Given the description of an element on the screen output the (x, y) to click on. 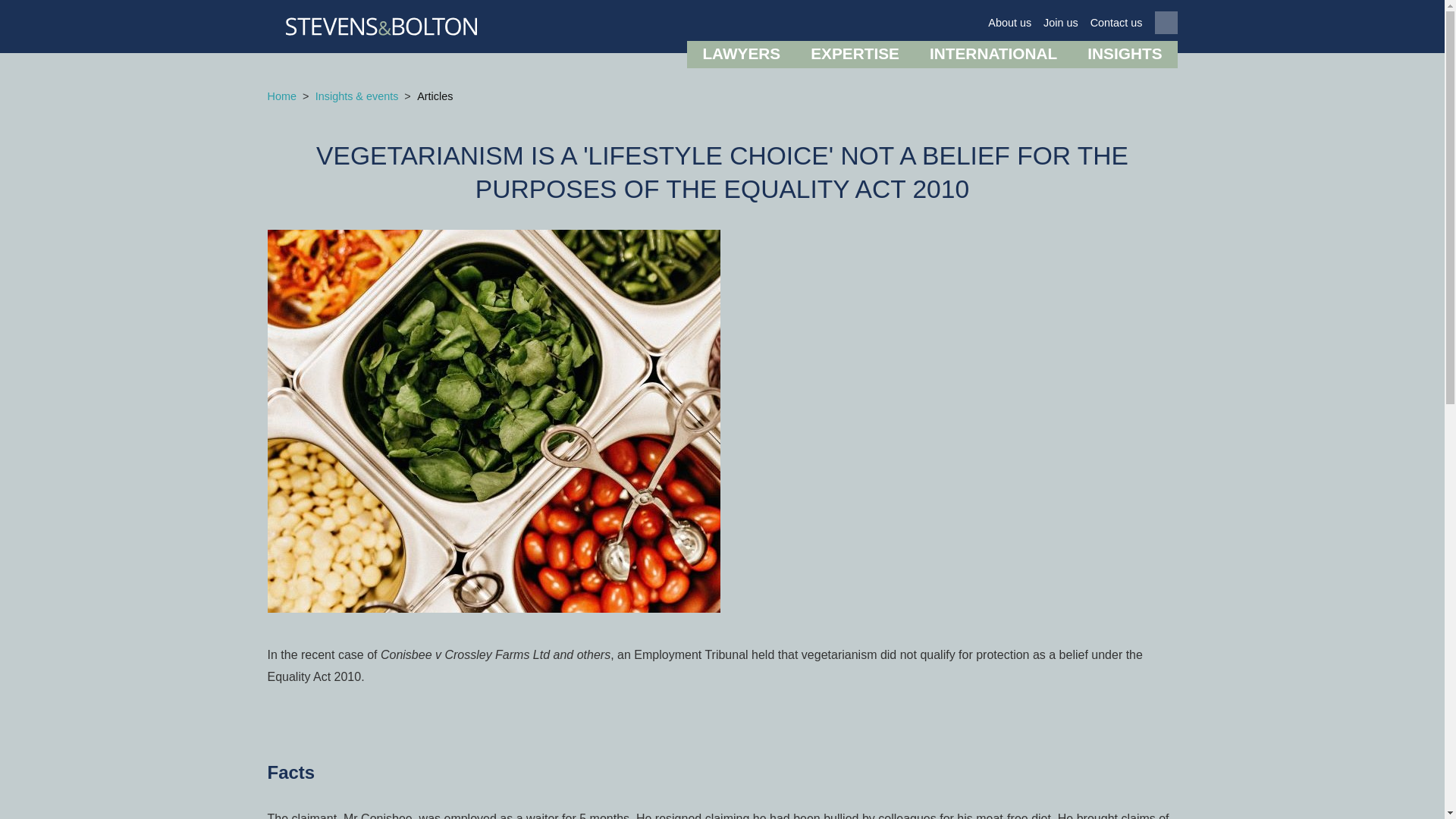
Articles (434, 97)
LAWYERS (740, 53)
INTERNATIONAL (992, 53)
EXPERTISE (854, 53)
Home (280, 97)
About us (1009, 22)
Contact us (1116, 22)
INSIGHTS (1123, 53)
Join us (1060, 22)
